Given the description of an element on the screen output the (x, y) to click on. 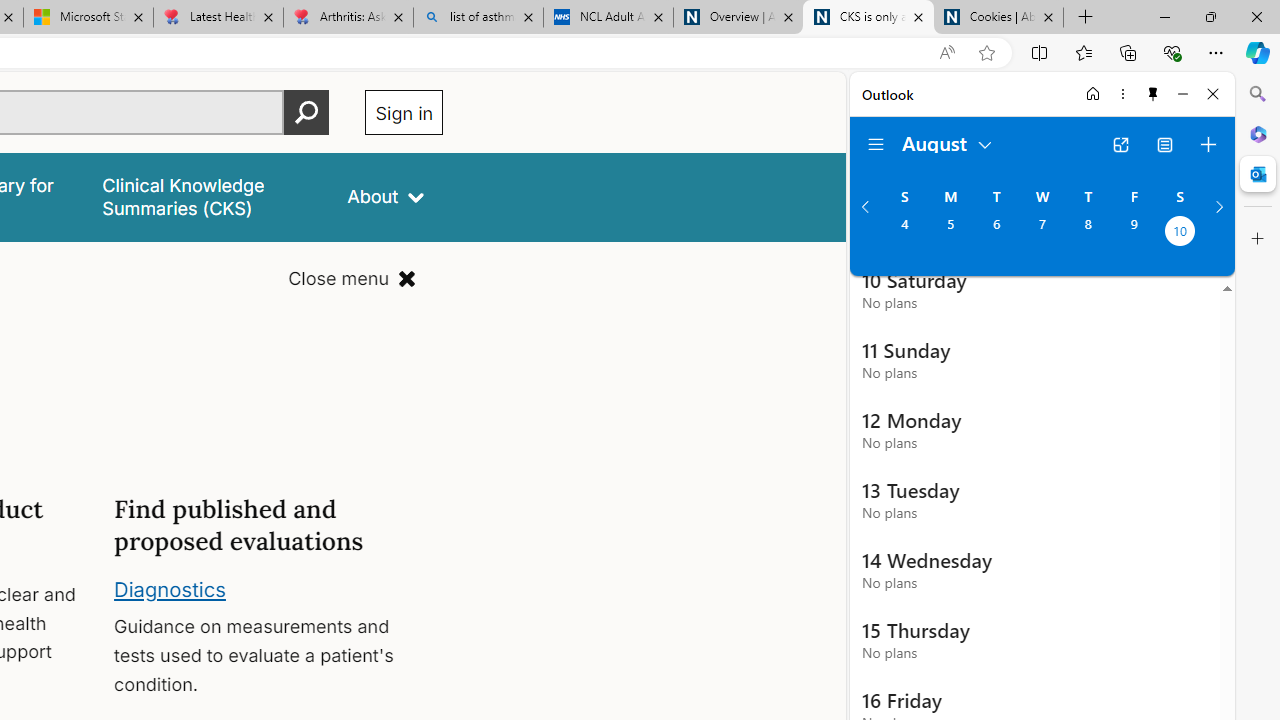
About (386, 196)
Sign in (404, 112)
Perform search (307, 112)
Open in new tab (1120, 144)
About (386, 196)
NCL Adult Asthma Inhaler Choice Guideline (608, 17)
Unpin side pane (1153, 93)
Arthritis: Ask Health Professionals (348, 17)
CKS is only available in the UK | NICE (868, 17)
